Given the description of an element on the screen output the (x, y) to click on. 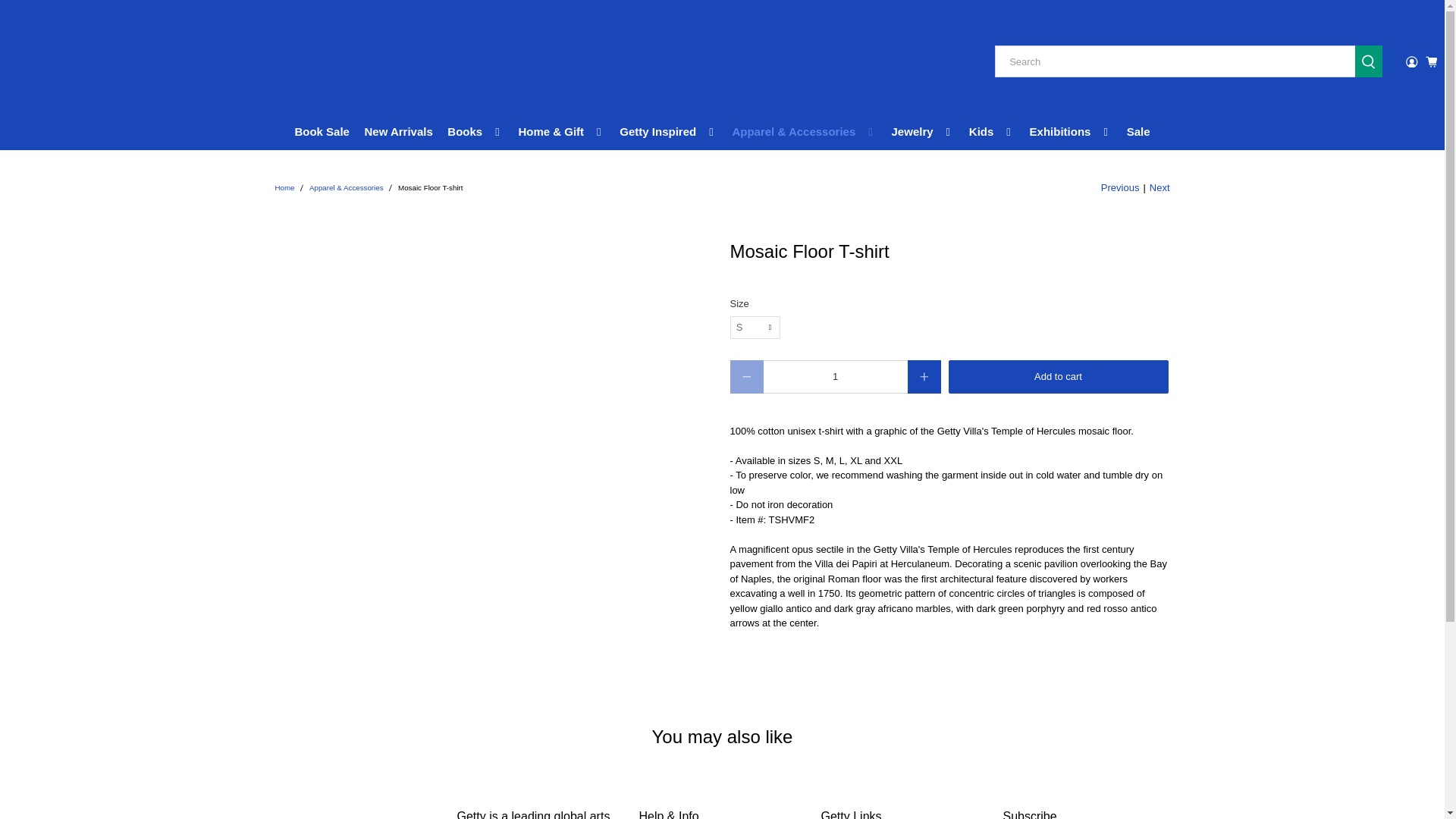
Getty Museum Store (358, 813)
New Arrivals (398, 131)
Getty Museum Store (82, 61)
1 (834, 376)
Getty Museum Store (284, 187)
Getty Inspired (668, 131)
Previous (1120, 187)
Book Sale (321, 131)
Next (1160, 187)
Books (476, 131)
